Given the description of an element on the screen output the (x, y) to click on. 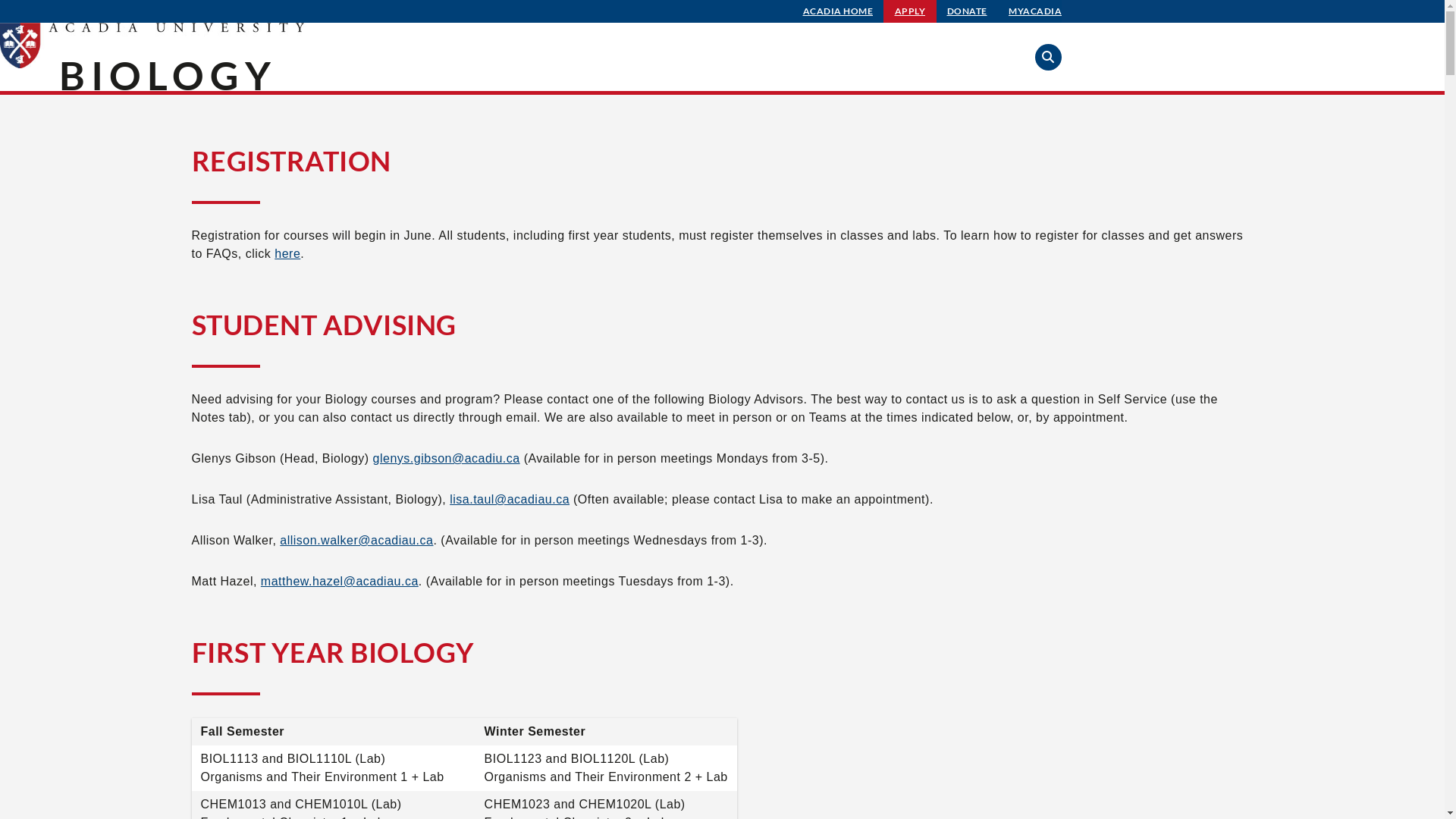
ACADIA HOME Element type: text (837, 11)
here Element type: text (287, 253)
glenys.gibson@acadiu.ca Element type: text (446, 457)
APPLY Element type: text (909, 11)
MYACADIA Element type: text (1035, 11)
lisa.taul@acadiau.ca Element type: text (509, 498)
BIOLOGY Element type: text (167, 74)
DONATE Element type: text (966, 11)
matthew.hazel@acadiau.ca Element type: text (339, 580)
allison.walker@acadiau.ca Element type: text (356, 539)
